Given the description of an element on the screen output the (x, y) to click on. 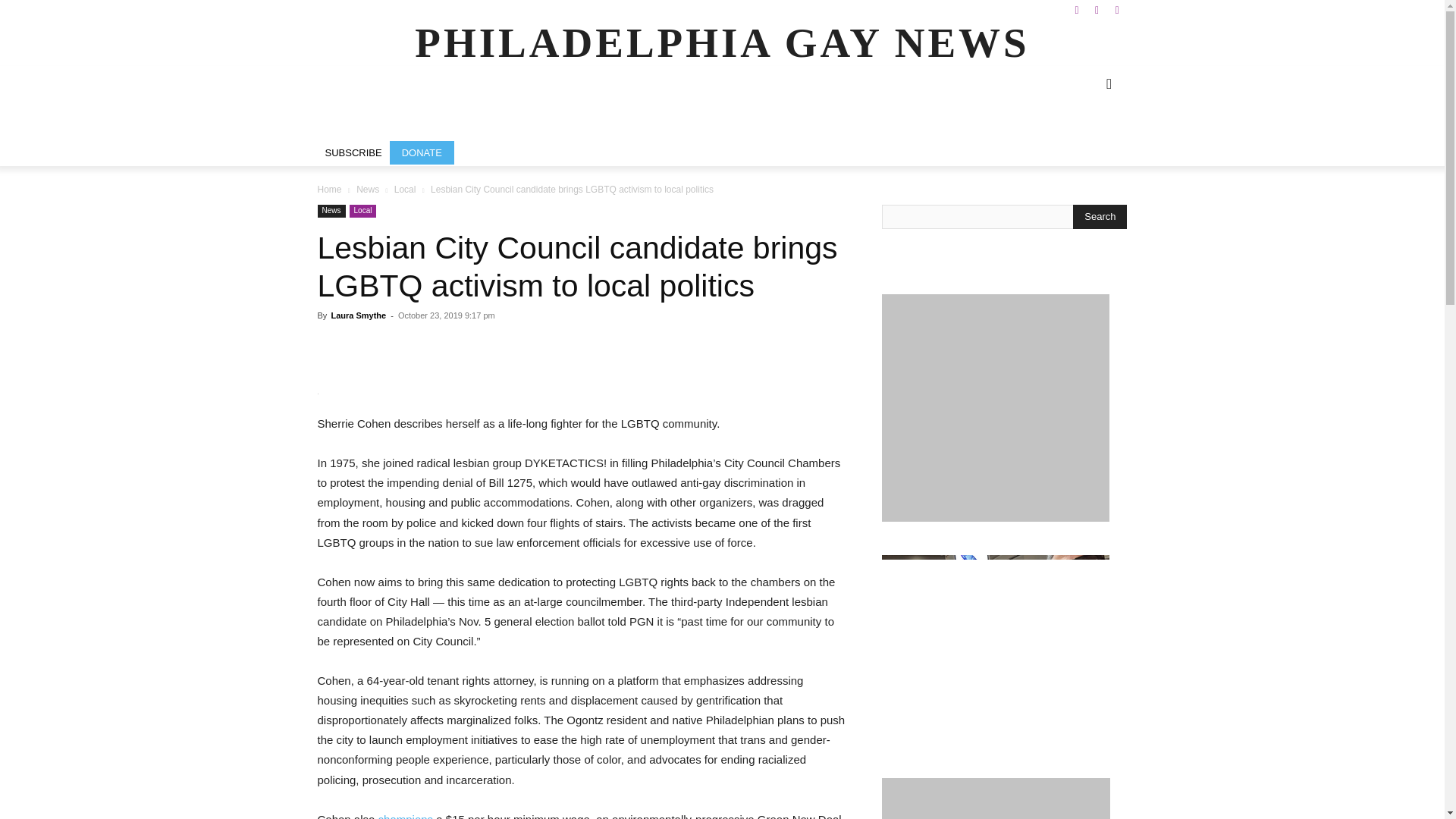
View all posts in Local (405, 189)
Instagram (1096, 10)
DONATE (422, 152)
Twitter (1116, 10)
Facebook (1077, 10)
SUBSCRIBE (352, 152)
Search (1099, 216)
View all posts in News (367, 189)
